Given the description of an element on the screen output the (x, y) to click on. 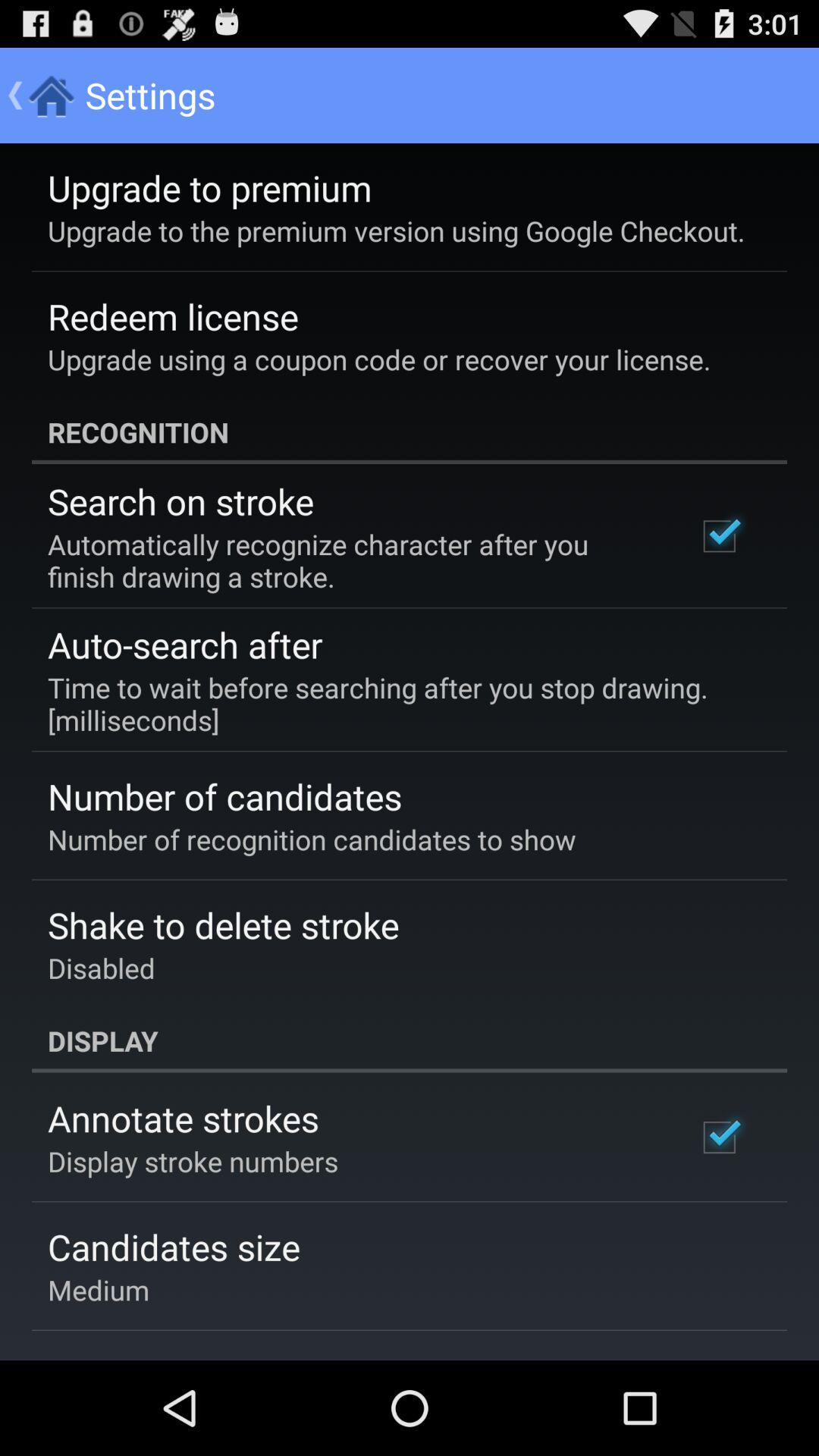
select app below the annotate strokes item (192, 1161)
